Given the description of an element on the screen output the (x, y) to click on. 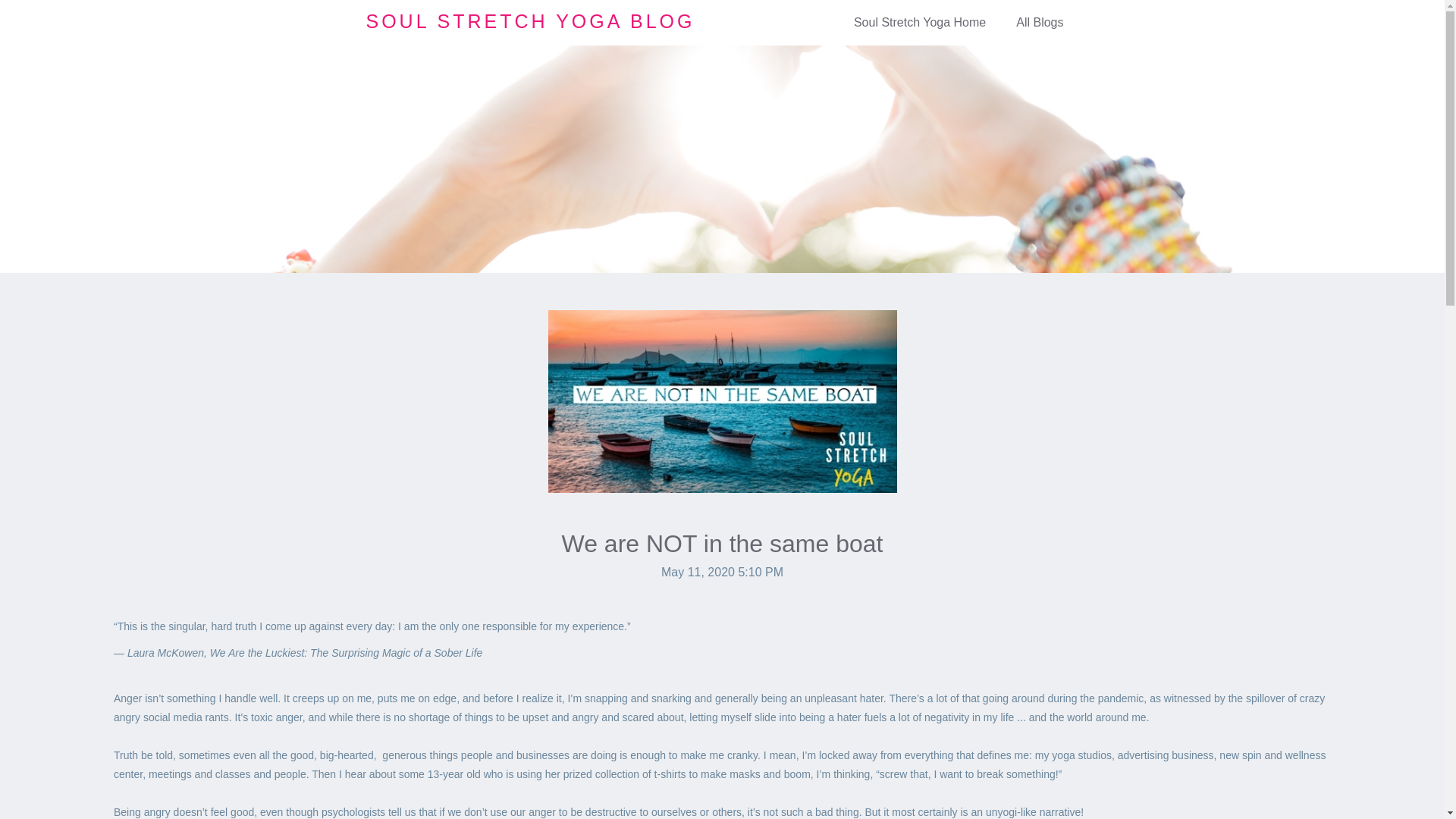
All Blogs (1039, 22)
SOUL STRETCH YOGA BLOG (529, 21)
Soul Stretch Yoga Home (919, 22)
